Given the description of an element on the screen output the (x, y) to click on. 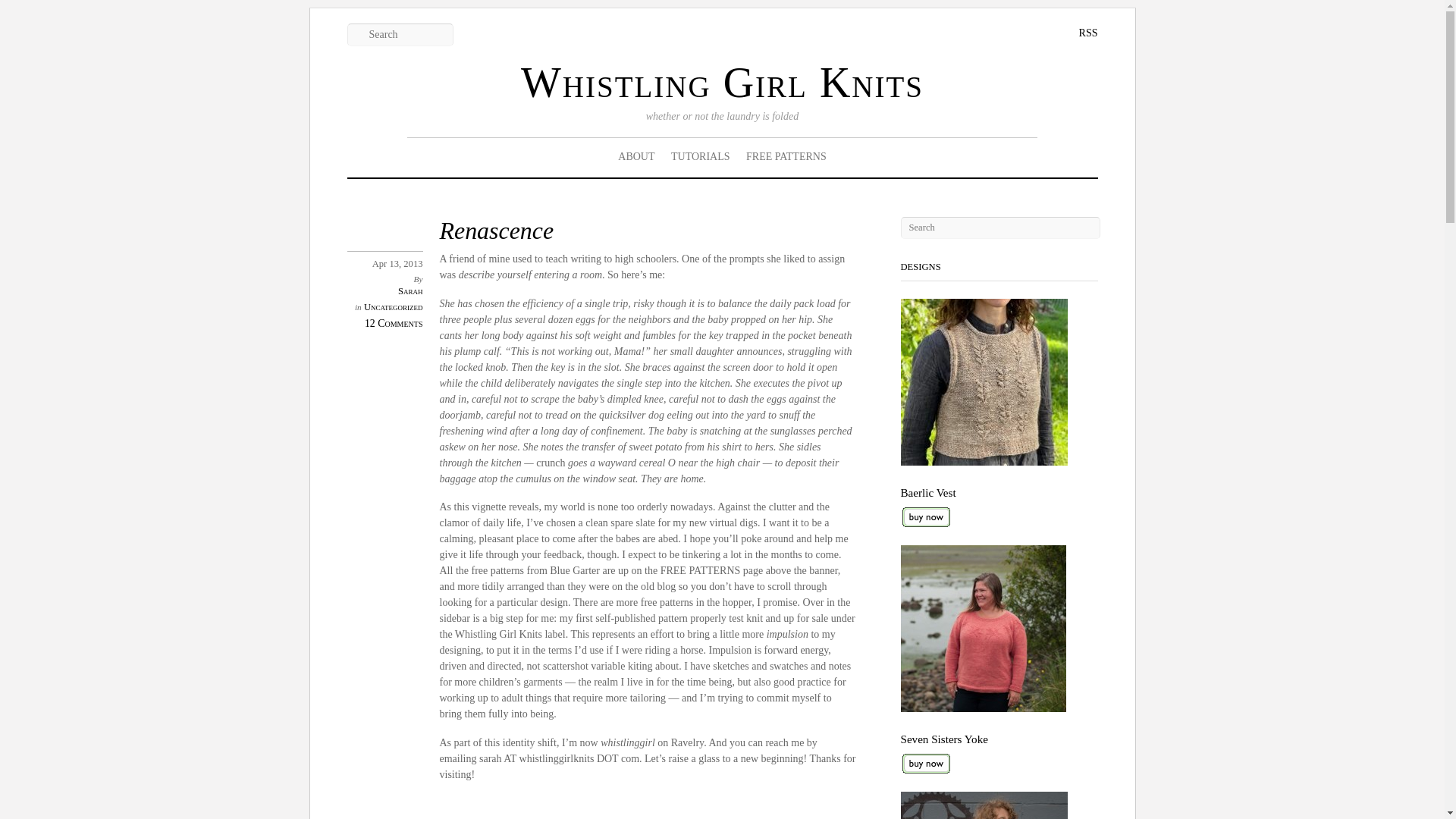
Sarah (410, 290)
ABOUT (636, 156)
Uncategorized (393, 307)
RSS (1077, 32)
Renascence (496, 230)
Whistling Girl Knits (722, 82)
TUTORIALS (699, 156)
12 Comments (394, 323)
FREE PATTERNS (785, 156)
Renascence (496, 230)
